Given the description of an element on the screen output the (x, y) to click on. 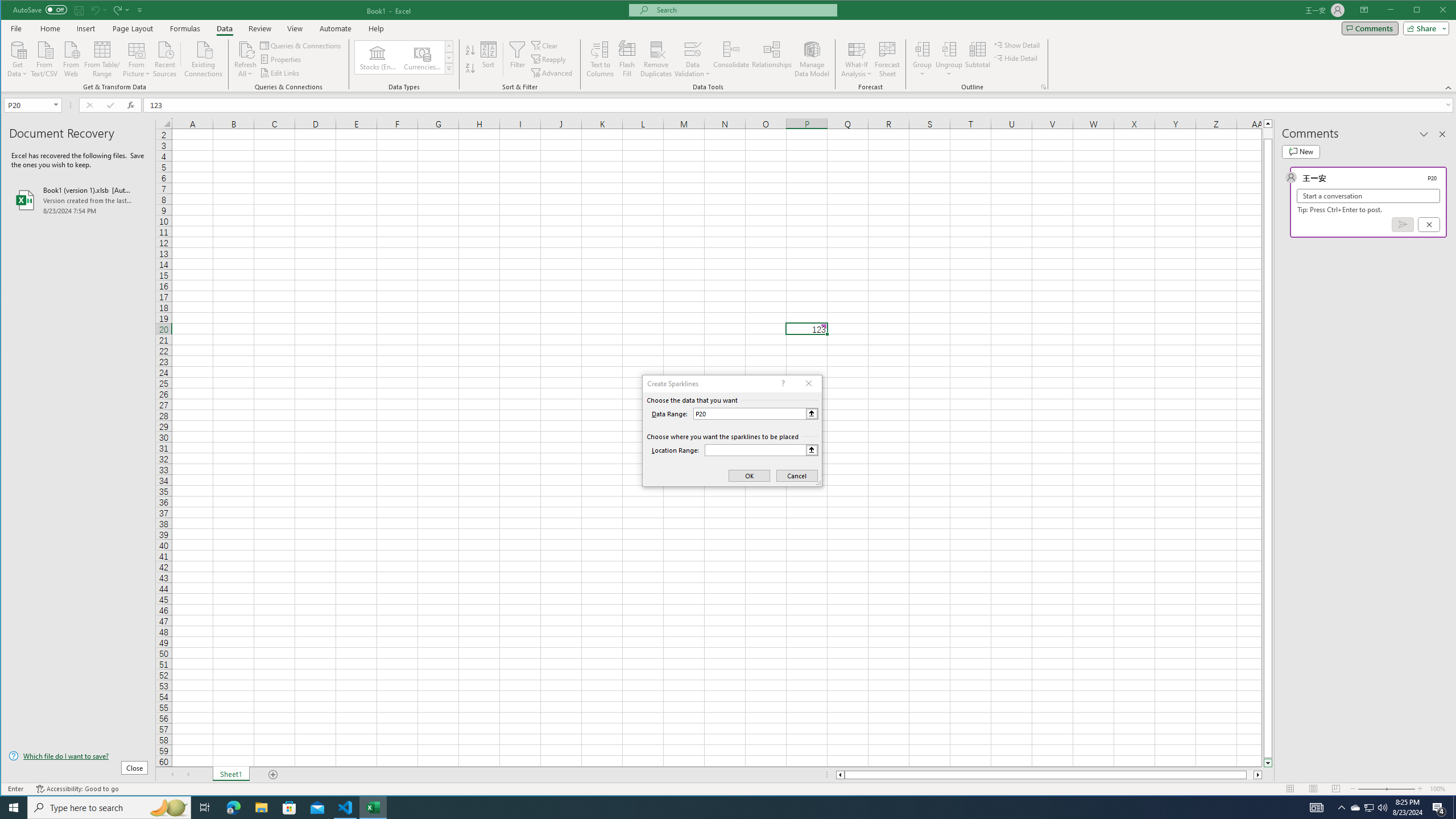
From Table/Range (102, 57)
Stocks (English) (377, 57)
Row up (448, 46)
Sort Largest to Smallest (470, 68)
Show Detail (1017, 44)
Currencies (English) (422, 57)
Sort Smallest to Largest (470, 49)
Relationships (772, 59)
Forecast Sheet (887, 59)
